Given the description of an element on the screen output the (x, y) to click on. 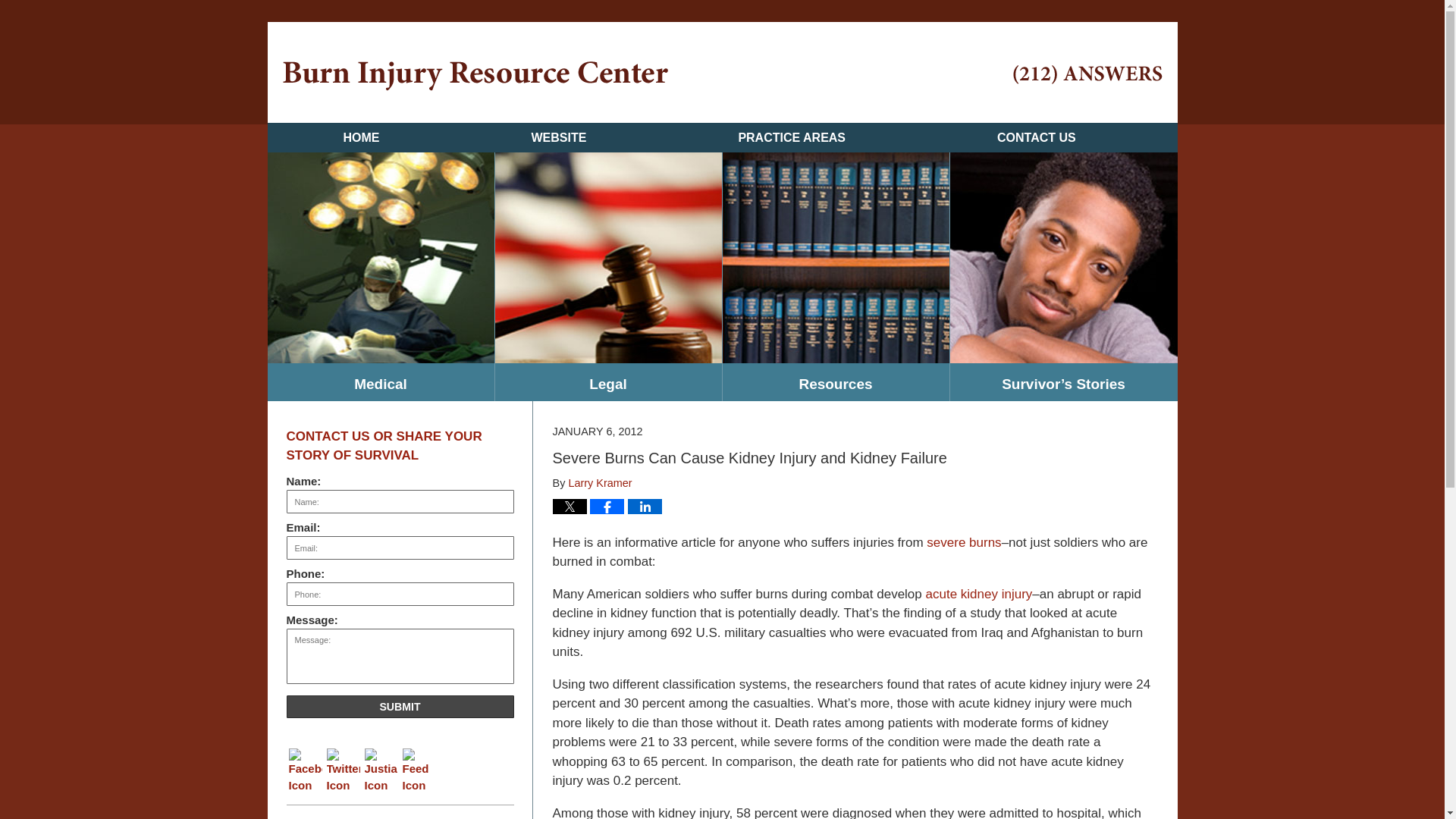
WEBSITE (558, 137)
Larry Kramer (599, 482)
PRACTICE AREAS (791, 137)
HOME (360, 137)
severe burns (963, 542)
Burn Injury Resource Center (474, 75)
Medical (379, 382)
Please enter a valid phone number. (399, 594)
CONTACT US (1036, 137)
SUBMIT (399, 706)
